Given the description of an element on the screen output the (x, y) to click on. 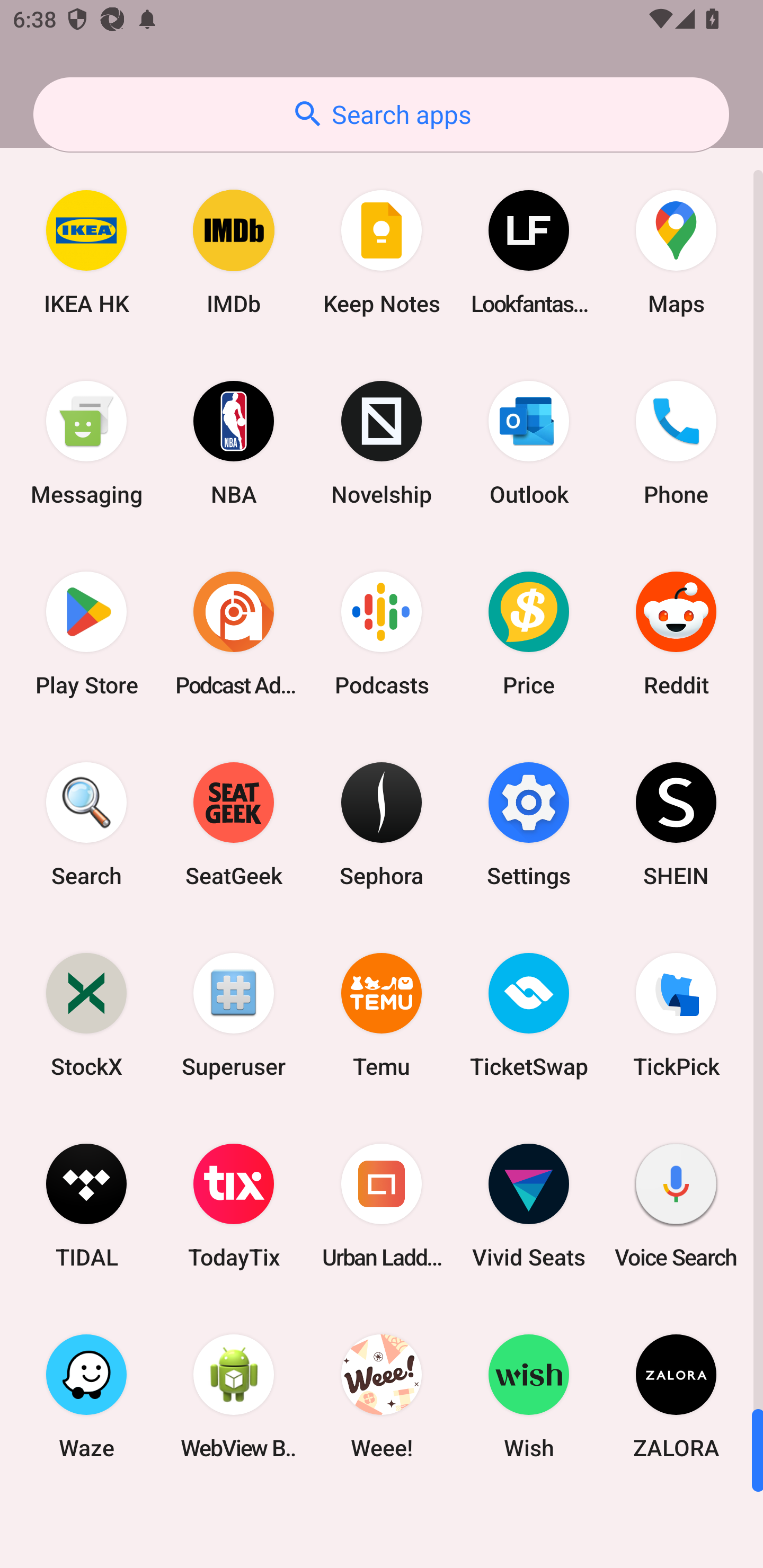
  Search apps (381, 114)
IKEA HK (86, 252)
IMDb (233, 252)
Keep Notes (381, 252)
Lookfantastic (528, 252)
Maps (676, 252)
Messaging (86, 442)
NBA (233, 442)
Novelship (381, 442)
Outlook (528, 442)
Phone (676, 442)
Play Store (86, 633)
Podcast Addict (233, 633)
Podcasts (381, 633)
Price (528, 633)
Reddit (676, 633)
Search (86, 823)
SeatGeek (233, 823)
Sephora (381, 823)
Settings (528, 823)
SHEIN (676, 823)
StockX (86, 1014)
Superuser (233, 1014)
Temu (381, 1014)
TicketSwap (528, 1014)
TickPick (676, 1014)
TIDAL (86, 1205)
TodayTix (233, 1205)
Urban Ladder (381, 1205)
Vivid Seats (528, 1205)
Voice Search (676, 1205)
Waze (86, 1396)
WebView Browser Tester (233, 1396)
Weee! (381, 1396)
Wish (528, 1396)
ZALORA (676, 1396)
